Given the description of an element on the screen output the (x, y) to click on. 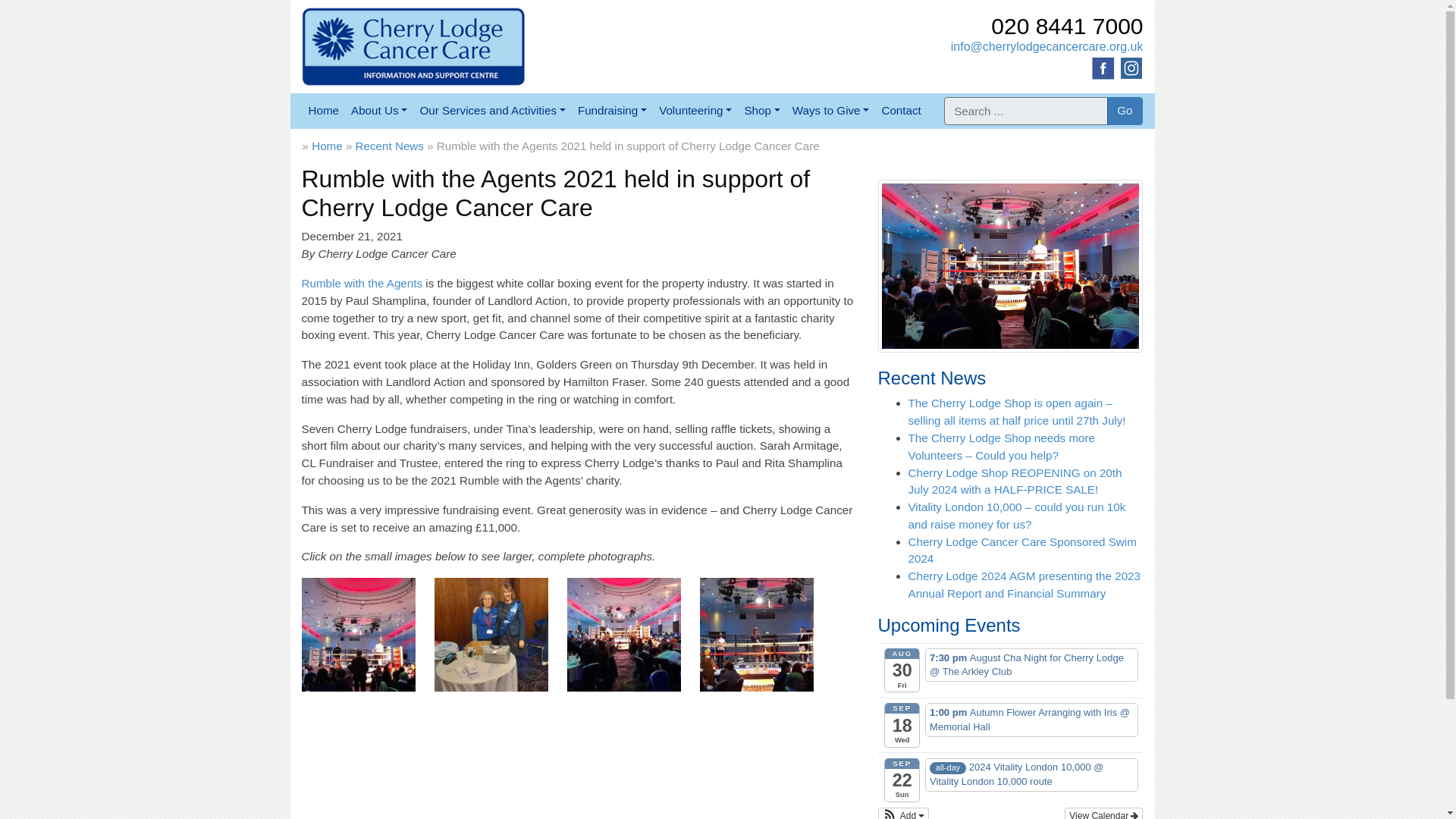
Home (323, 110)
Our Services and Activities (492, 110)
Our Services and Activities (492, 110)
Follow us on Facebook (1102, 66)
About Us (379, 110)
About Us (379, 110)
Fundraising (612, 110)
Home (323, 110)
020 8441 7000 (1066, 25)
Follow us on Instagram (1130, 66)
